Given the description of an element on the screen output the (x, y) to click on. 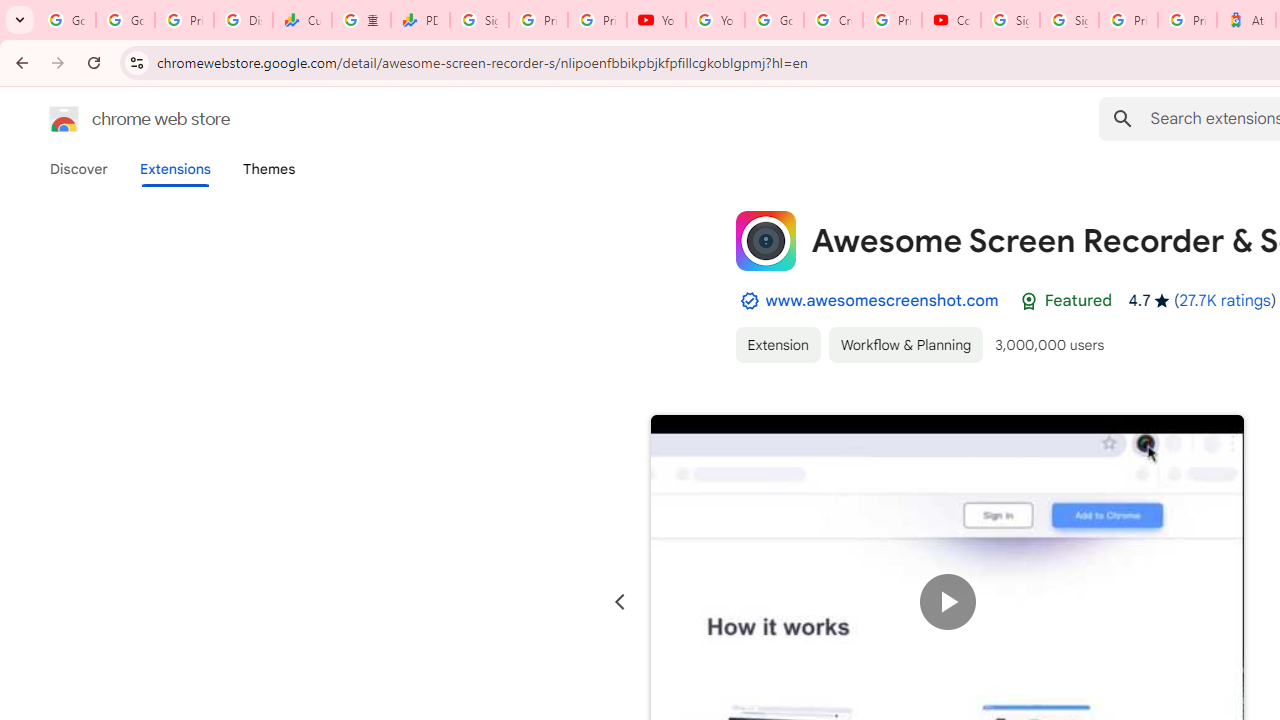
Sign in - Google Accounts (1069, 20)
Themes (269, 169)
Privacy Checkup (597, 20)
Item logo image for Awesome Screen Recorder & Screenshot (765, 240)
www.awesomescreenshot.com (881, 300)
Content Creator Programs & Opportunities - YouTube Creators (950, 20)
Workflow & Planning (906, 344)
